Given the description of an element on the screen output the (x, y) to click on. 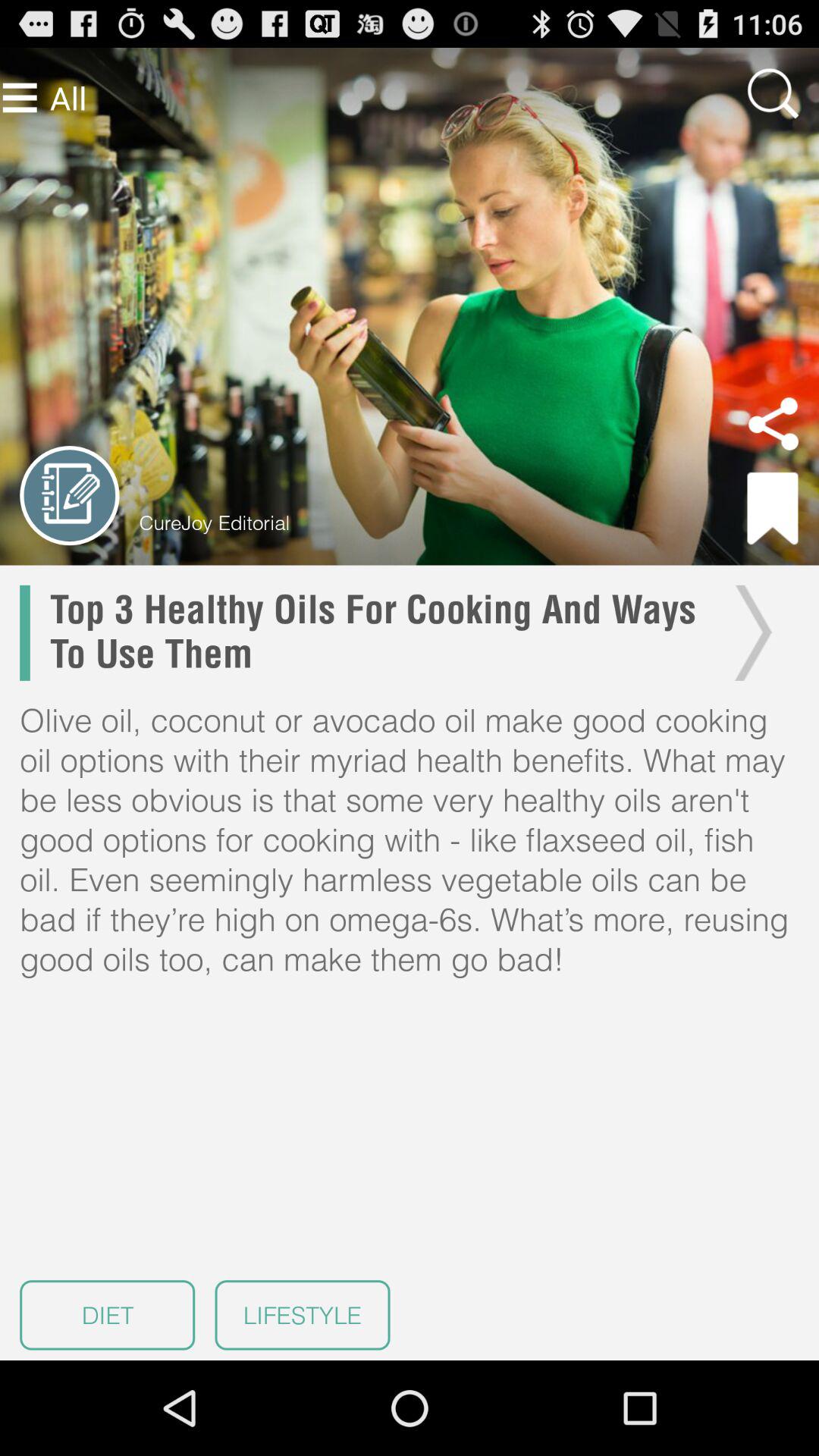
edit it (69, 495)
